Given the description of an element on the screen output the (x, y) to click on. 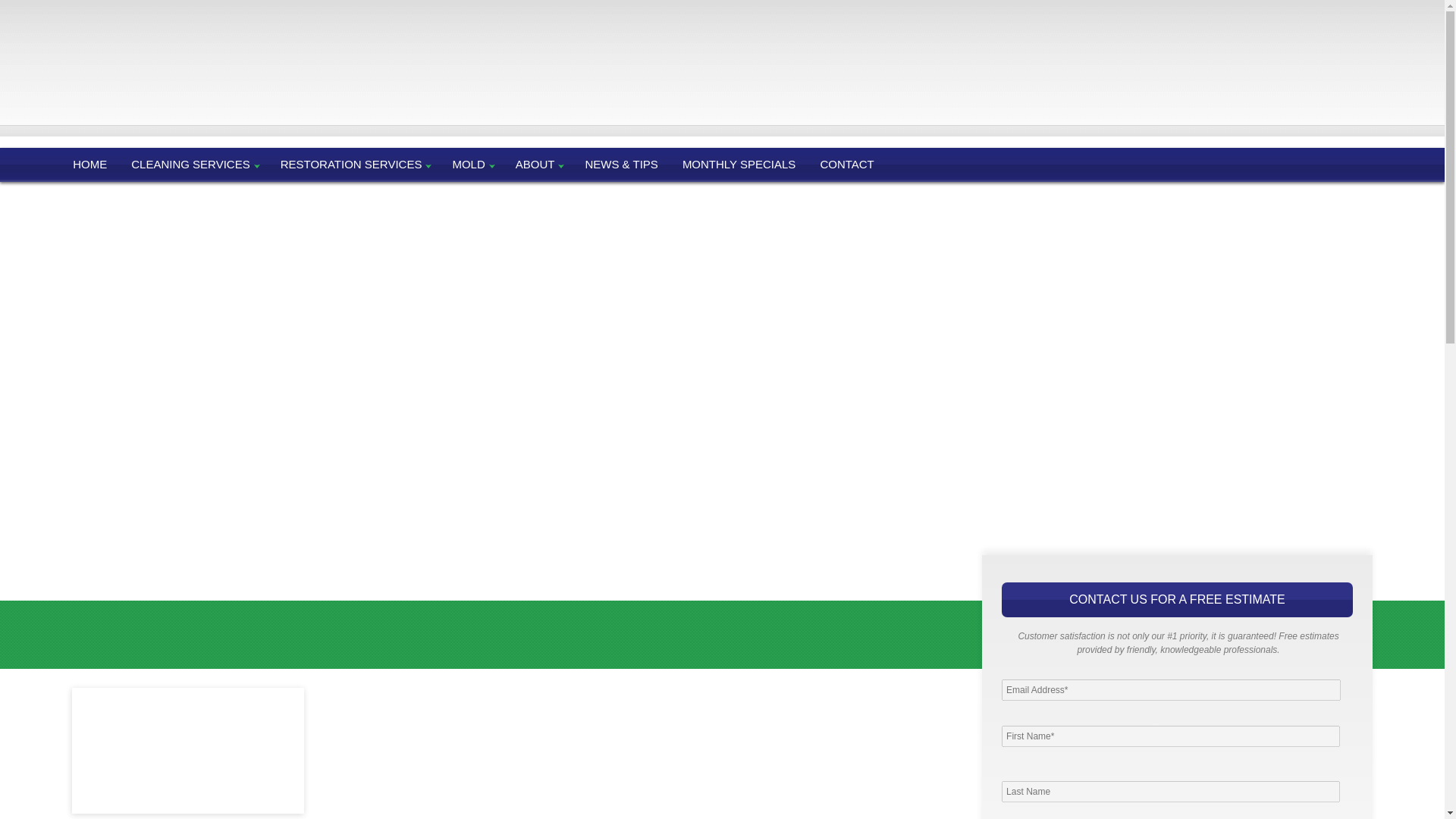
HOME (96, 164)
850.432.6060 (162, 37)
ABOUT (540, 164)
CLEANING SERVICES (194, 164)
RESTORATION SERVICES (356, 164)
MOLD (472, 164)
CONTACT (847, 164)
Escarosa Cleaning and Restorarion (47, 37)
MONTHLY SPECIALS (740, 164)
